Given the description of an element on the screen output the (x, y) to click on. 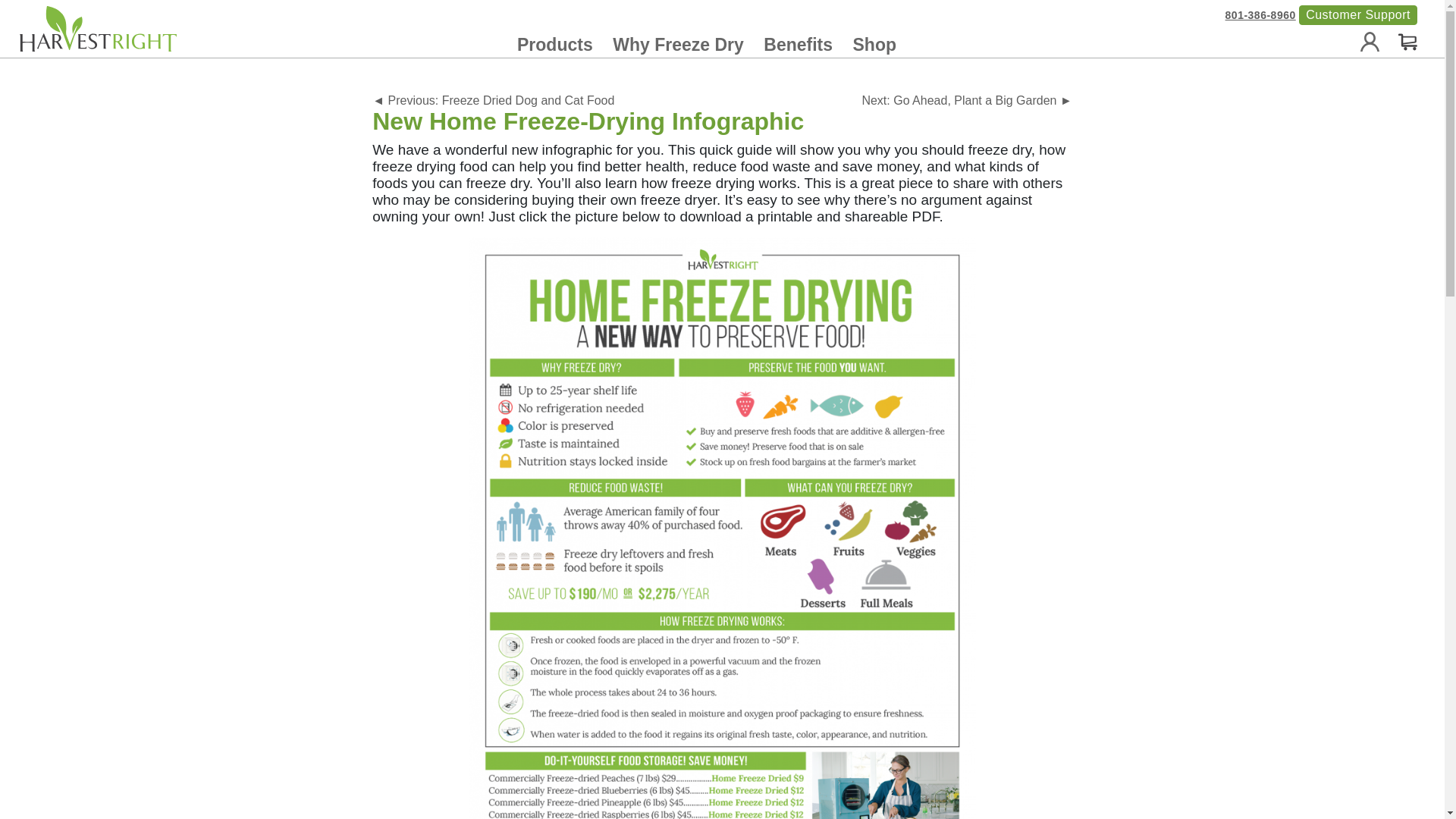
Products (554, 44)
Visit the Shop (874, 44)
Shop for Products (554, 44)
Why Freeze Dry (678, 44)
